Given the description of an element on the screen output the (x, y) to click on. 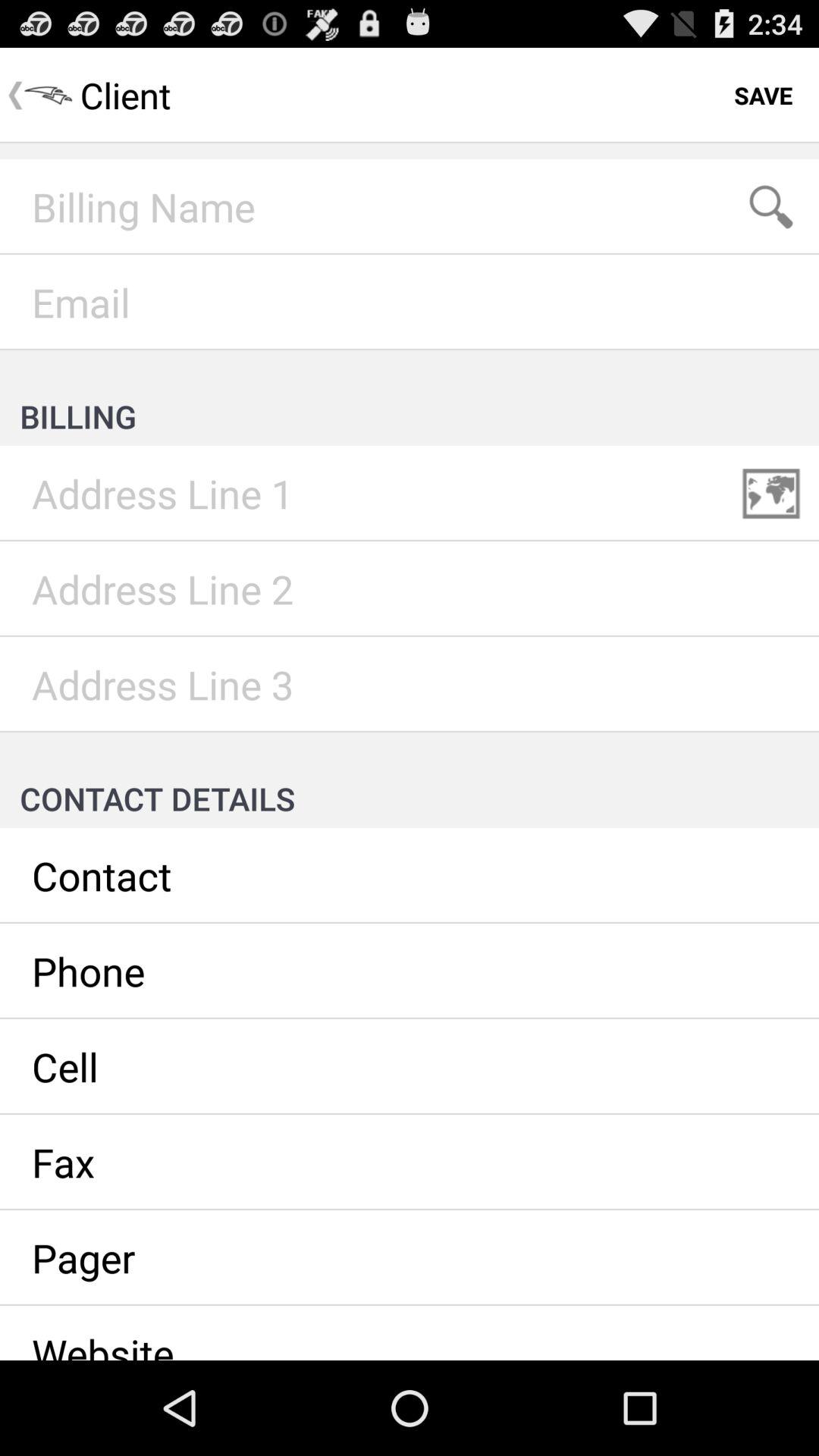
enter the pager (409, 1257)
